Given the description of an element on the screen output the (x, y) to click on. 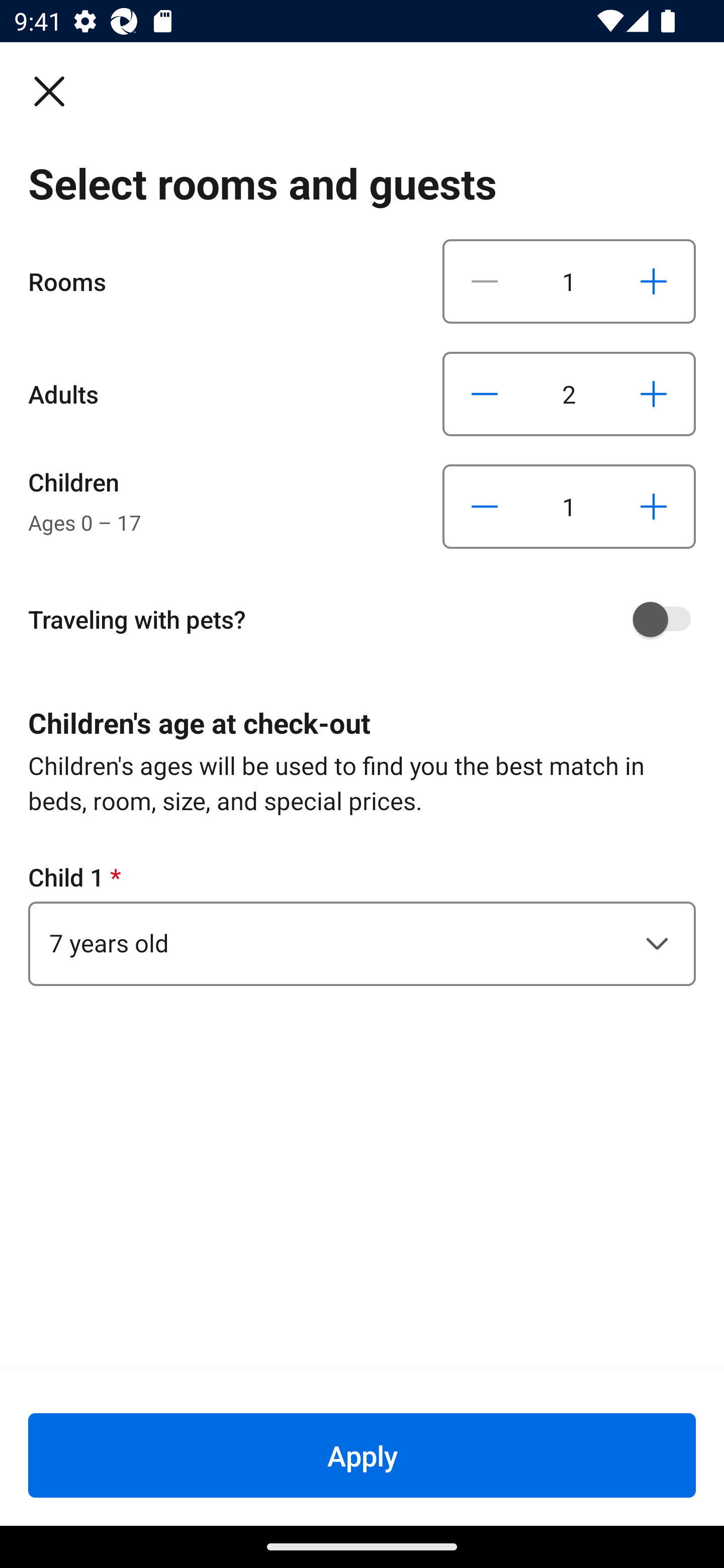
Decrease (484, 281)
Increase (653, 281)
Decrease (484, 393)
Increase (653, 393)
Decrease (484, 506)
Increase (653, 506)
Traveling with pets? (369, 619)
Child 1
required Child 1 * 7 years old (361, 922)
Apply (361, 1454)
